Given the description of an element on the screen output the (x, y) to click on. 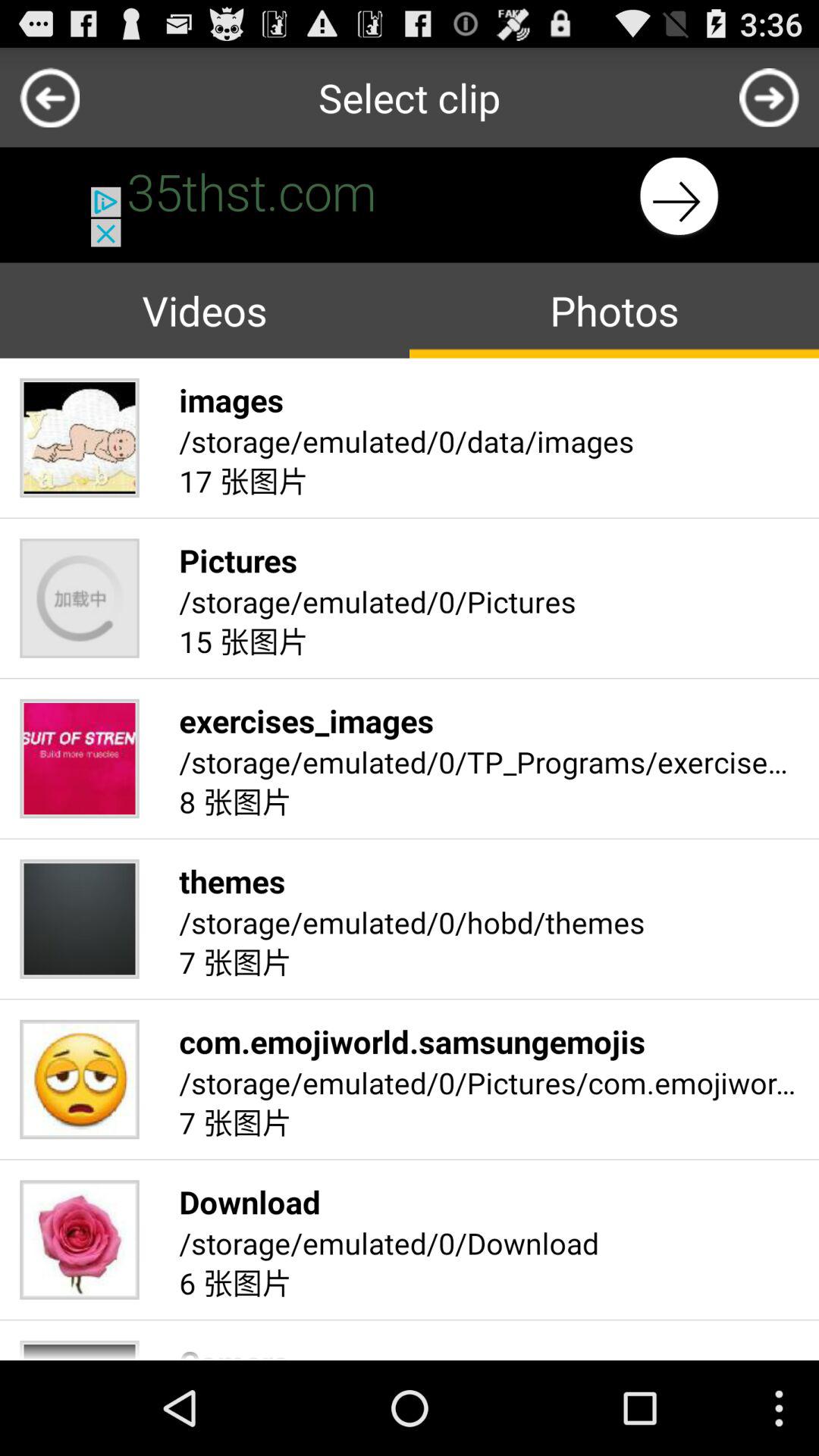
advertisement (409, 196)
